Given the description of an element on the screen output the (x, y) to click on. 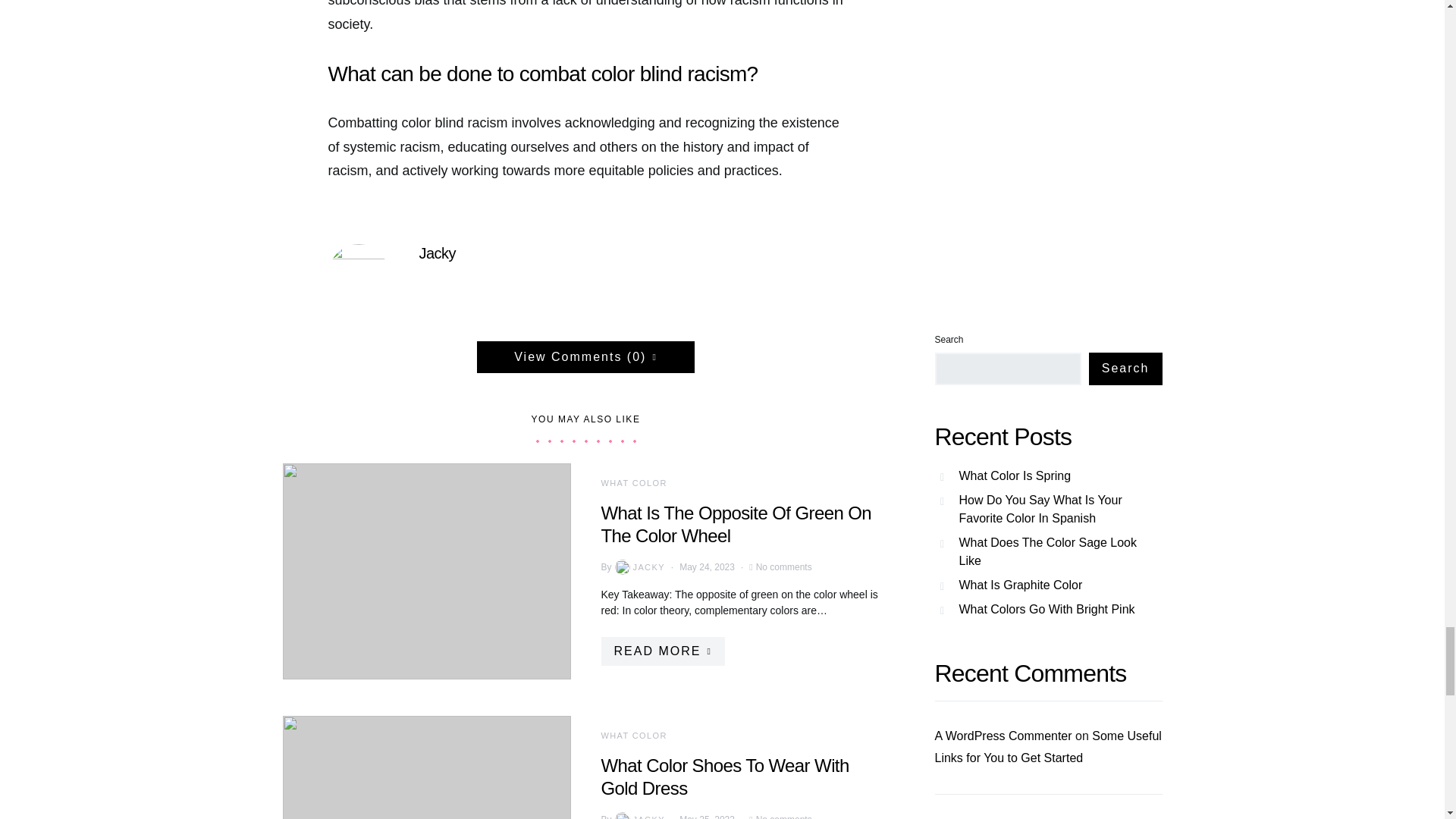
WHAT COLOR (632, 482)
JACKY (638, 815)
Jacky (437, 252)
No comments (783, 567)
View all posts by Jacky (638, 566)
View all posts by Jacky (638, 815)
No comments (783, 816)
What Is The Opposite Of Green On The Color Wheel (734, 524)
WHAT COLOR (632, 735)
READ MORE (661, 651)
